Given the description of an element on the screen output the (x, y) to click on. 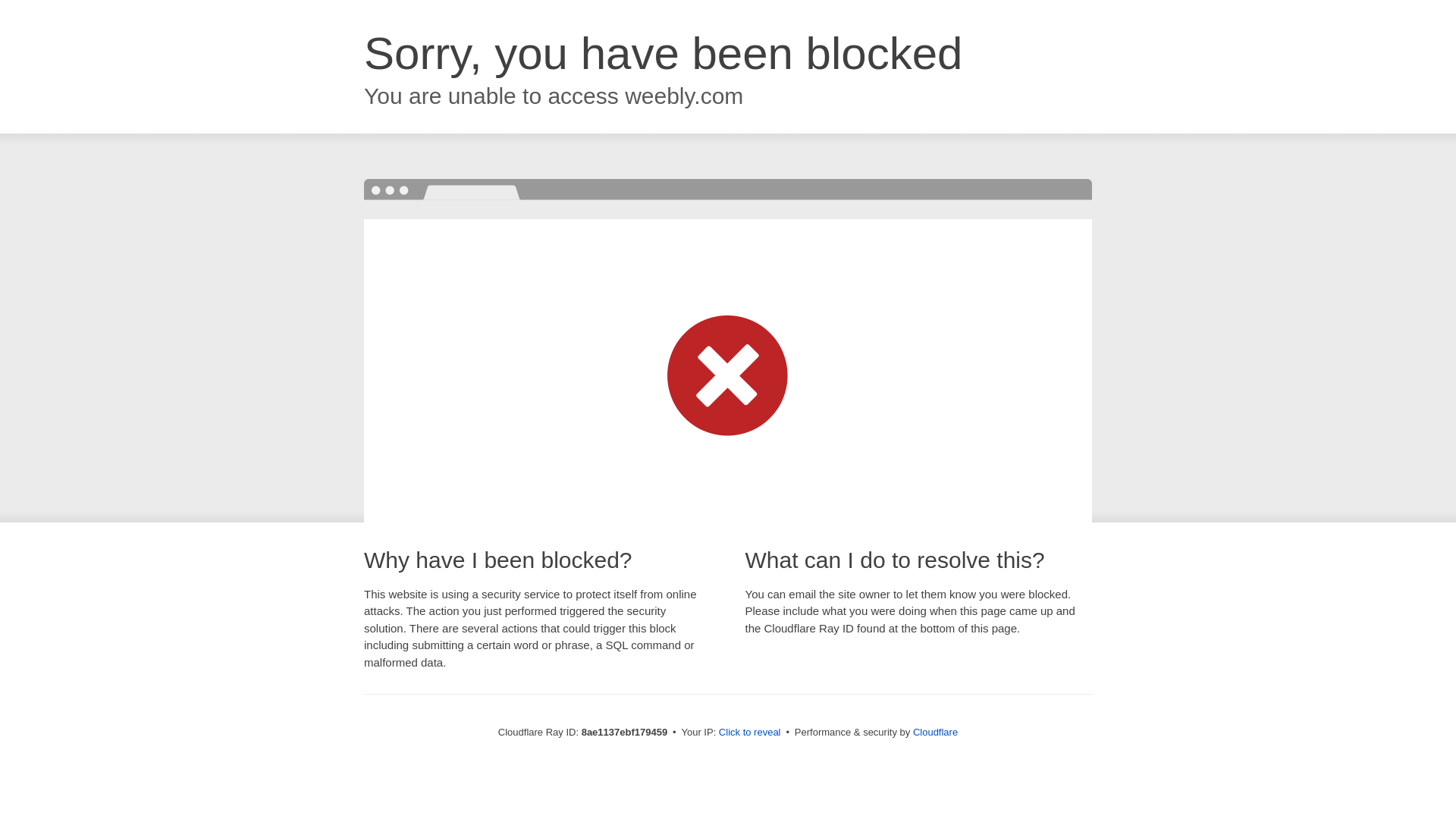
Cloudflare (935, 731)
Click to reveal (749, 732)
